Given the description of an element on the screen output the (x, y) to click on. 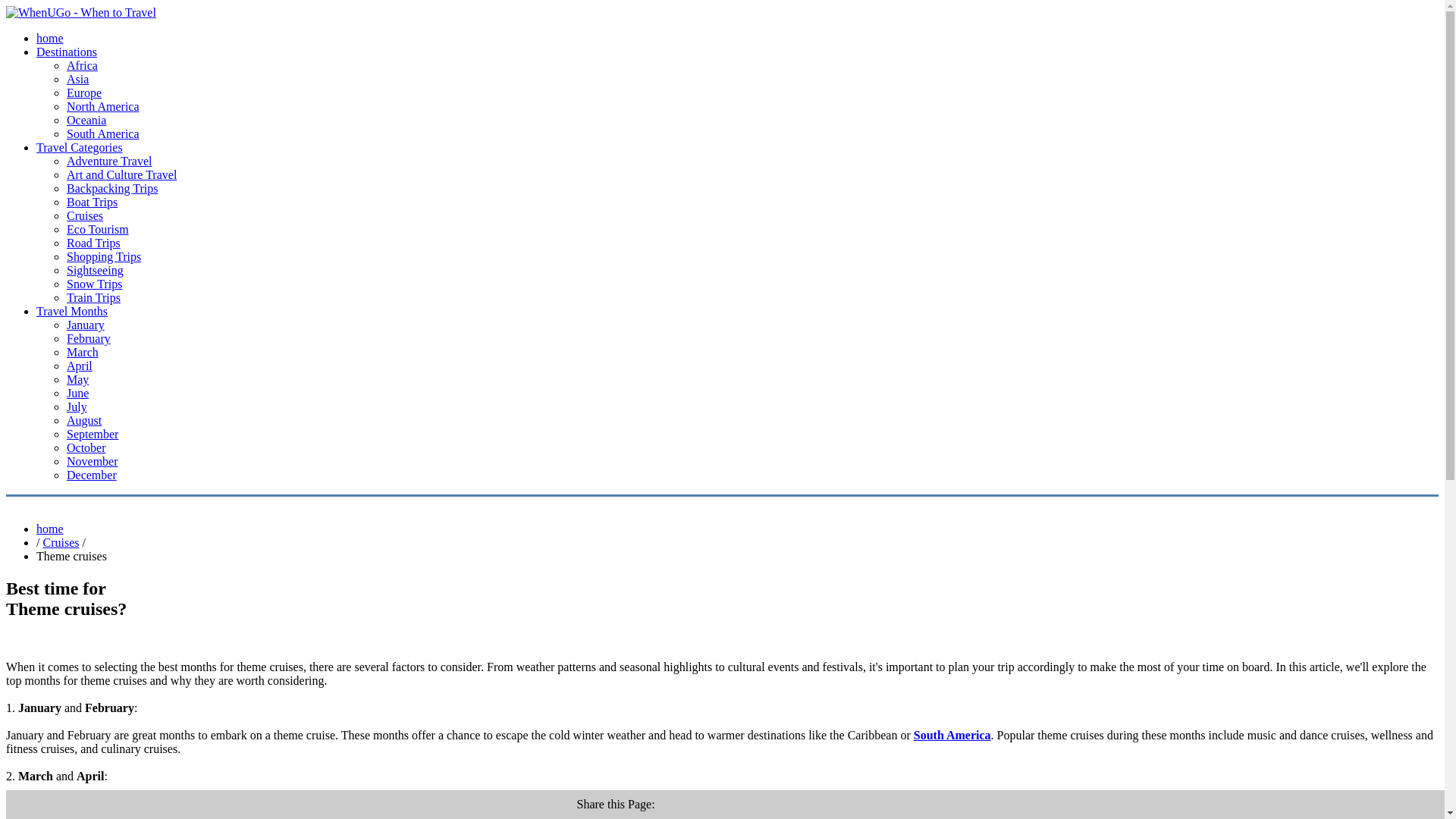
March (82, 351)
Oceania (86, 119)
Boat Trips (91, 201)
September (91, 433)
Sightseeing (94, 269)
Africa (81, 65)
home (50, 528)
November (91, 461)
Shopping Trips (103, 256)
Cruises (84, 215)
Travel Categories (79, 146)
Eco Tourism (97, 228)
December (91, 474)
April (79, 365)
Snow Trips (94, 283)
